Given the description of an element on the screen output the (x, y) to click on. 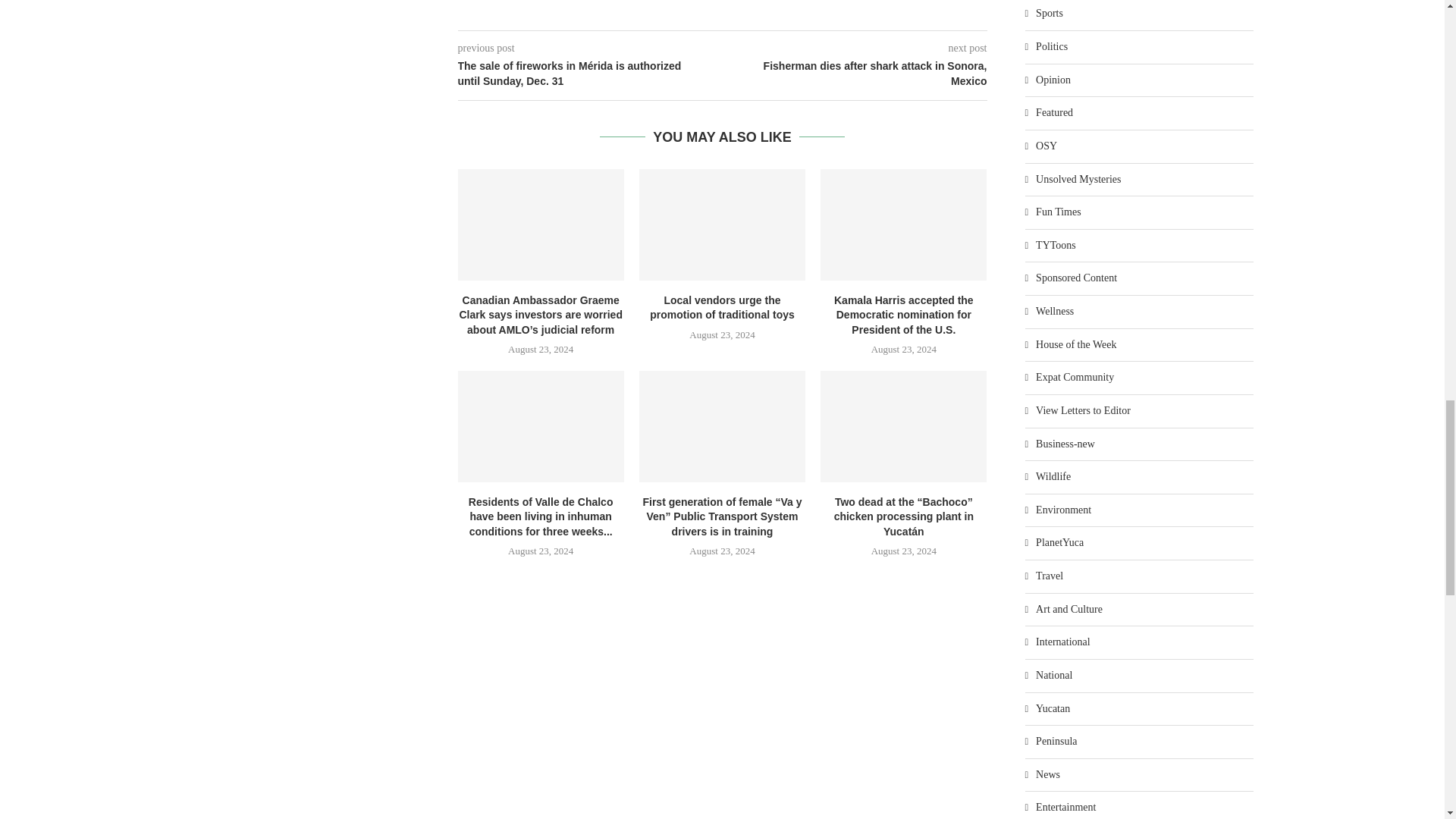
Local vendors urge the promotion of traditional toys (722, 224)
